Given the description of an element on the screen output the (x, y) to click on. 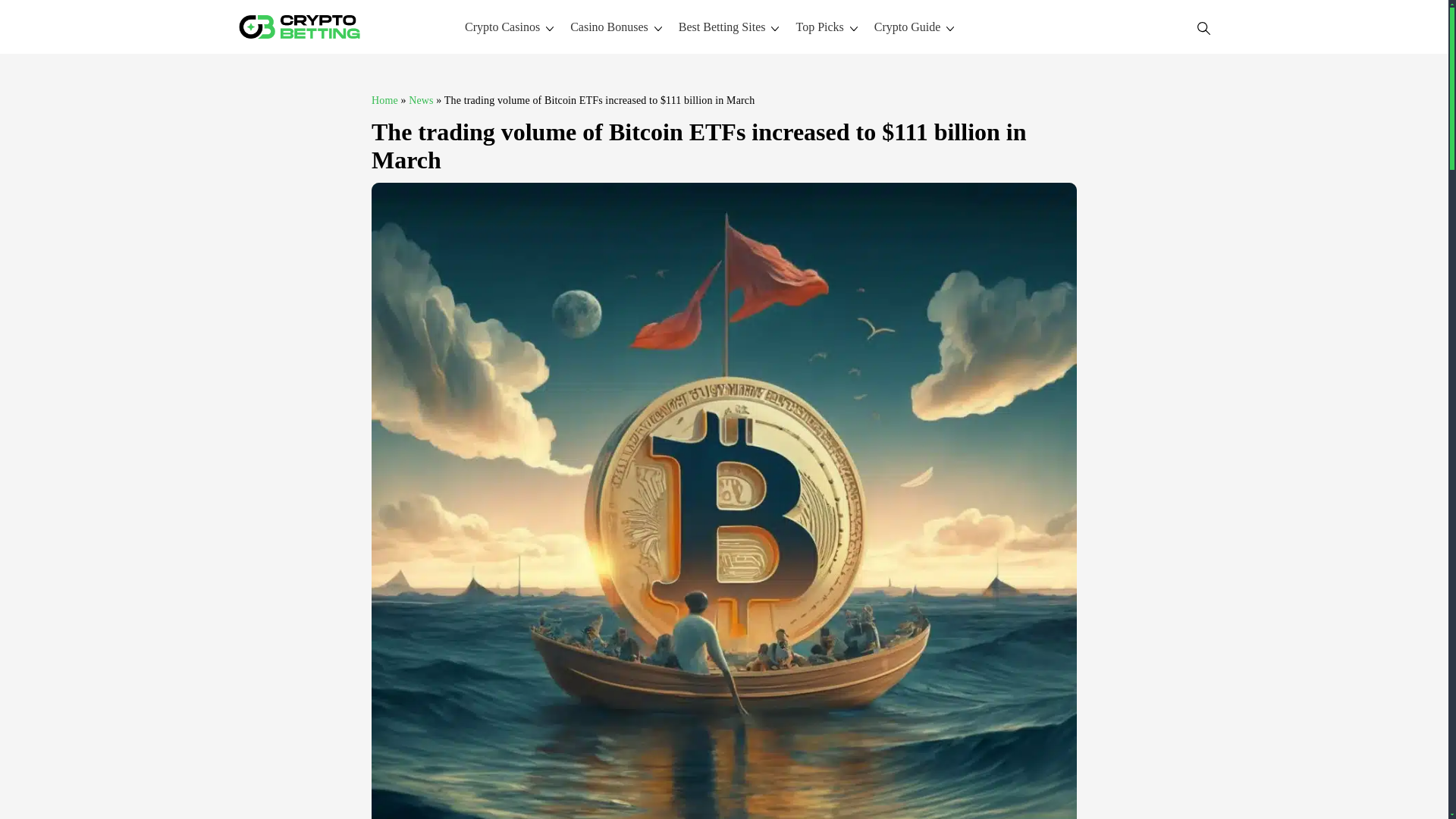
Casino Bonuses (608, 26)
Crypto Casinos (501, 26)
